Given the description of an element on the screen output the (x, y) to click on. 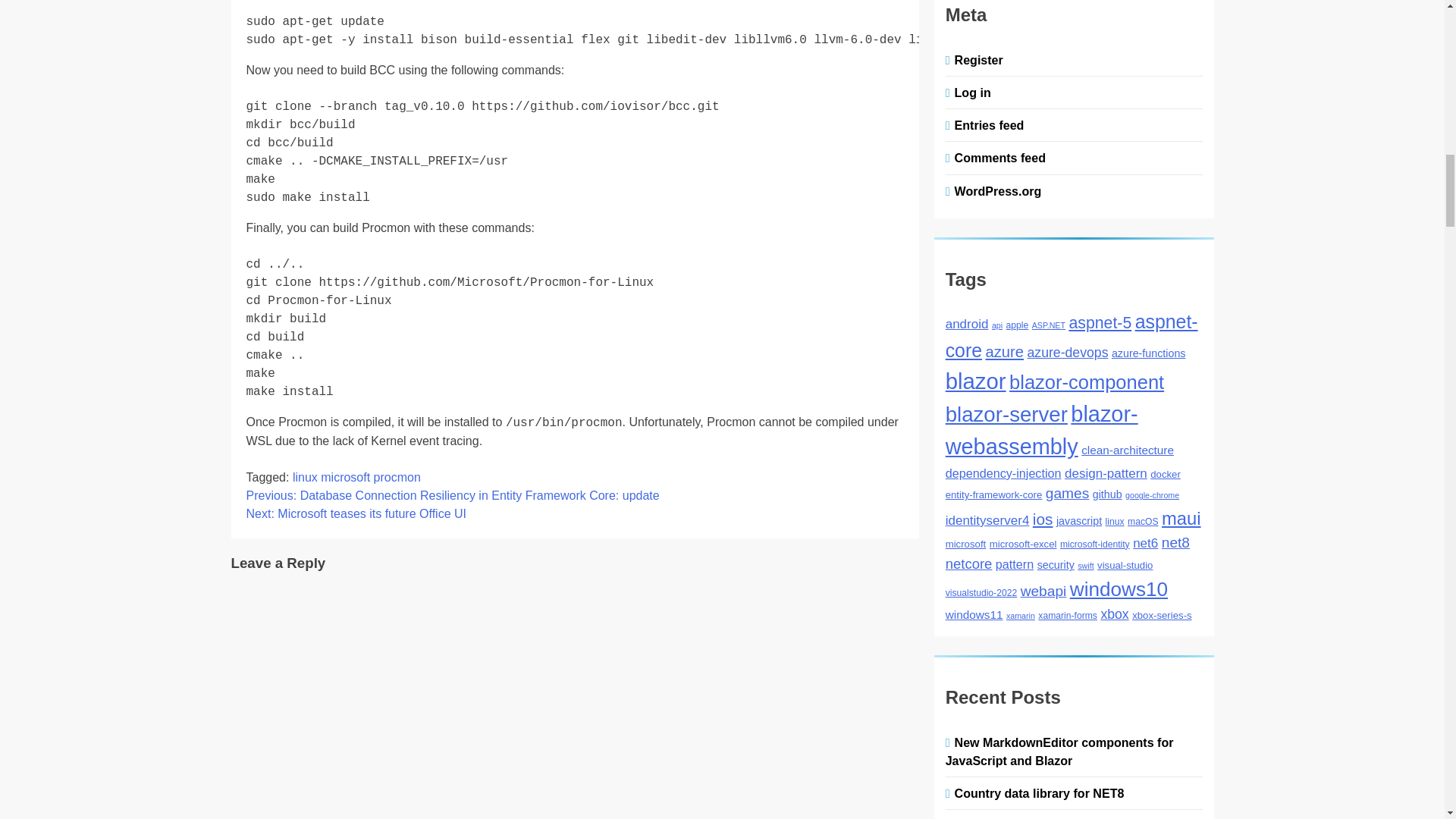
procmon (397, 477)
microsoft (344, 477)
Next: Microsoft teases its future Office UI (355, 513)
linux (304, 477)
